Given the description of an element on the screen output the (x, y) to click on. 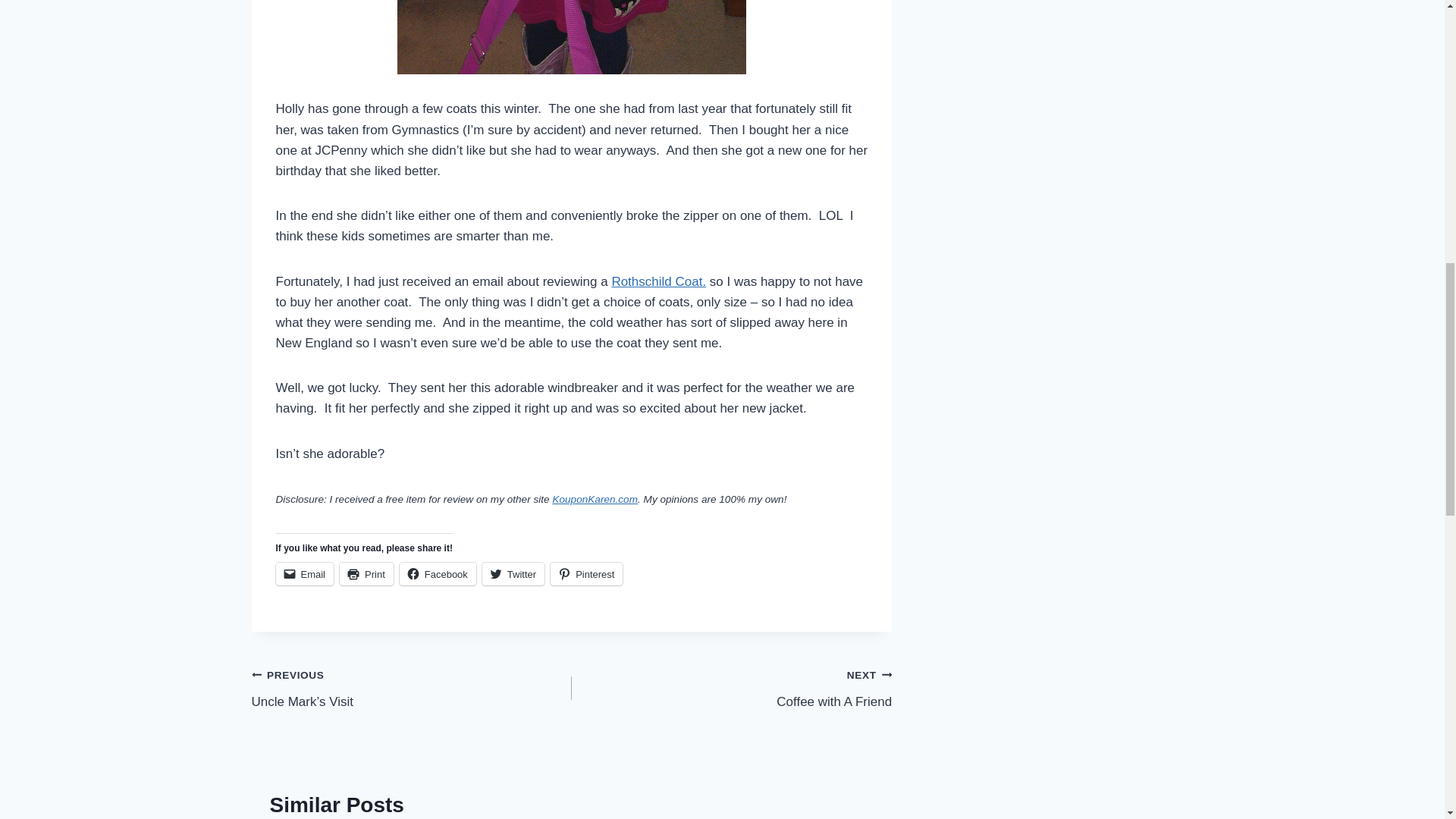
Rothschild Coat. (658, 281)
Click to share on Facebook (437, 573)
Click to print (366, 573)
Facebook (437, 573)
Print (366, 573)
Click to share on Twitter (512, 573)
Twitter (512, 573)
KouponKaren.com (594, 499)
Click to email a link to a friend (305, 573)
Email (305, 573)
